Given the description of an element on the screen output the (x, y) to click on. 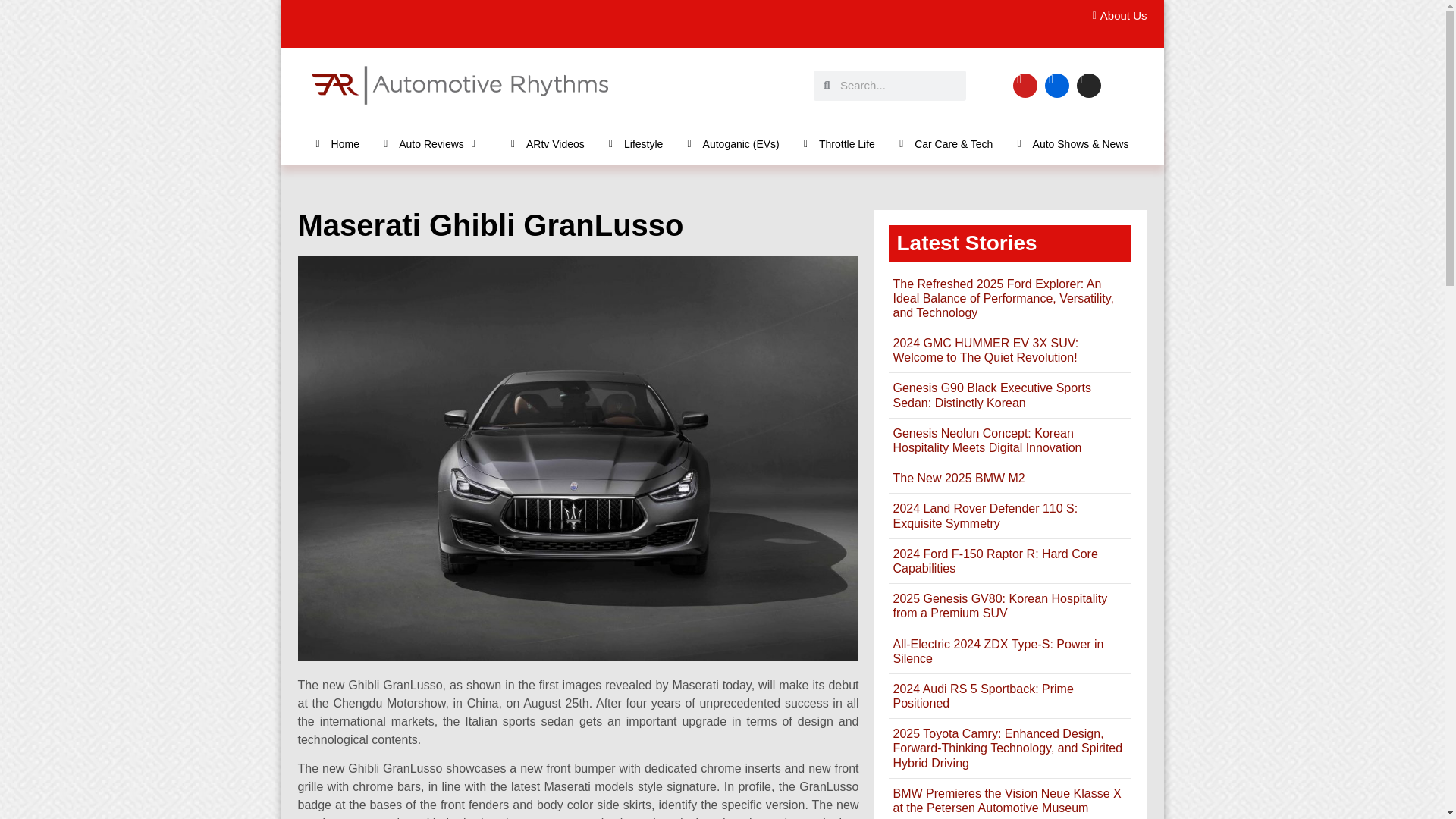
Throttle Life (839, 142)
Lifestyle (635, 142)
About Us (1115, 16)
2024 GMC HUMMER EV 3X SUV: Welcome to The Quiet Revolution! (985, 349)
All-Electric 2024 ZDX Type-S: Power in Silence (997, 650)
Home (336, 142)
Genesis G90 Black Executive Sports Sedan: Distinctly Korean (991, 394)
2025 Genesis GV80: Korean Hospitality from a Premium SUV (999, 605)
2024 Ford F-150 Raptor R: Hard Core Capabilities (994, 560)
Auto Reviews (435, 142)
2024 Land Rover Defender 110 S: Exquisite Symmetry (984, 515)
The New 2025 BMW M2 (958, 477)
